Given the description of an element on the screen output the (x, y) to click on. 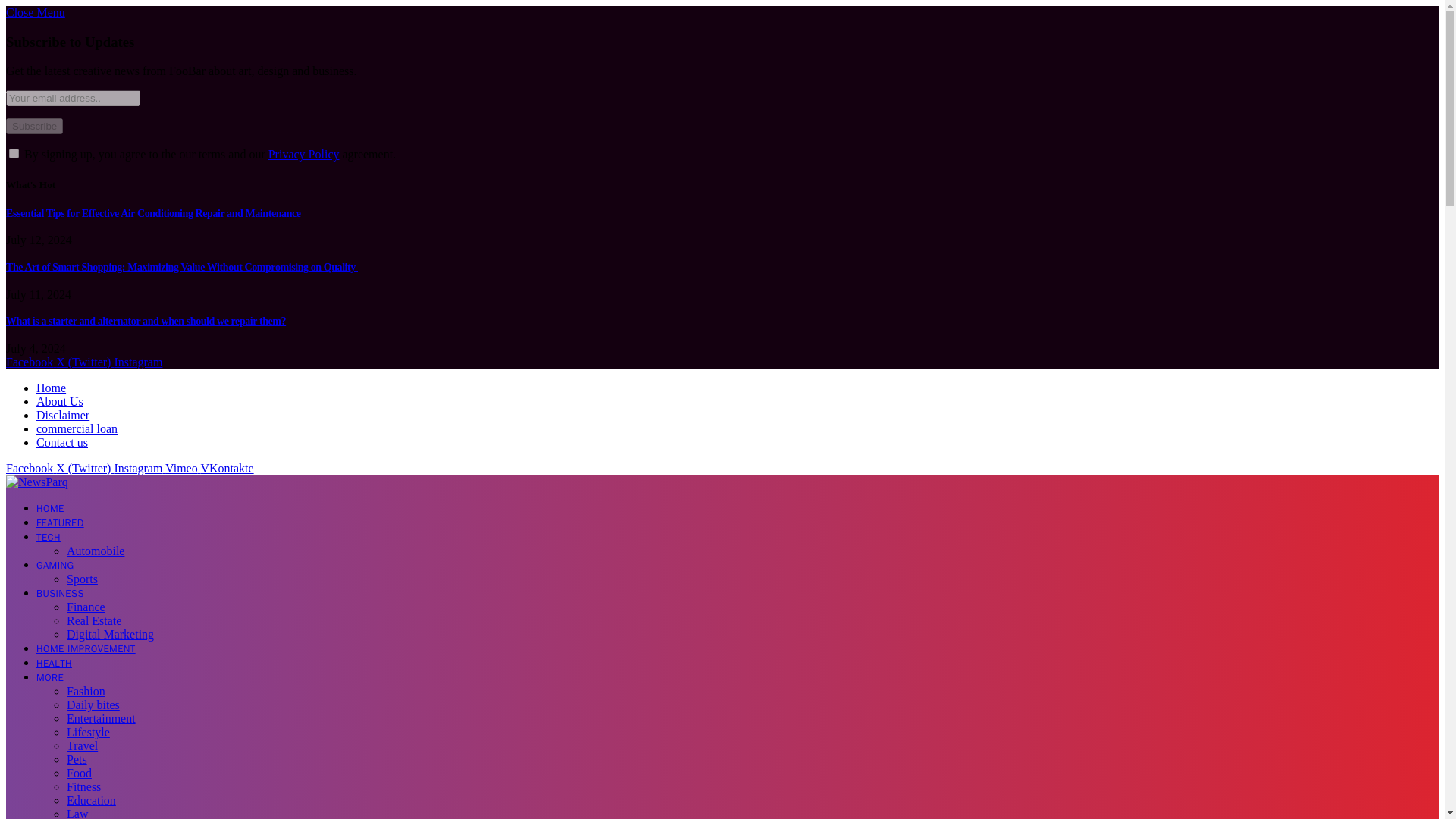
commercial loan (76, 428)
Travel (81, 745)
Real Estate (93, 620)
Daily bites (92, 704)
HEALTH (53, 662)
Pets (76, 758)
Fashion (85, 690)
Close Menu (35, 11)
Disclaimer (62, 414)
Digital Marketing (110, 634)
on (13, 153)
VKontakte (226, 468)
Entertainment (100, 717)
Facebook (30, 361)
